Given the description of an element on the screen output the (x, y) to click on. 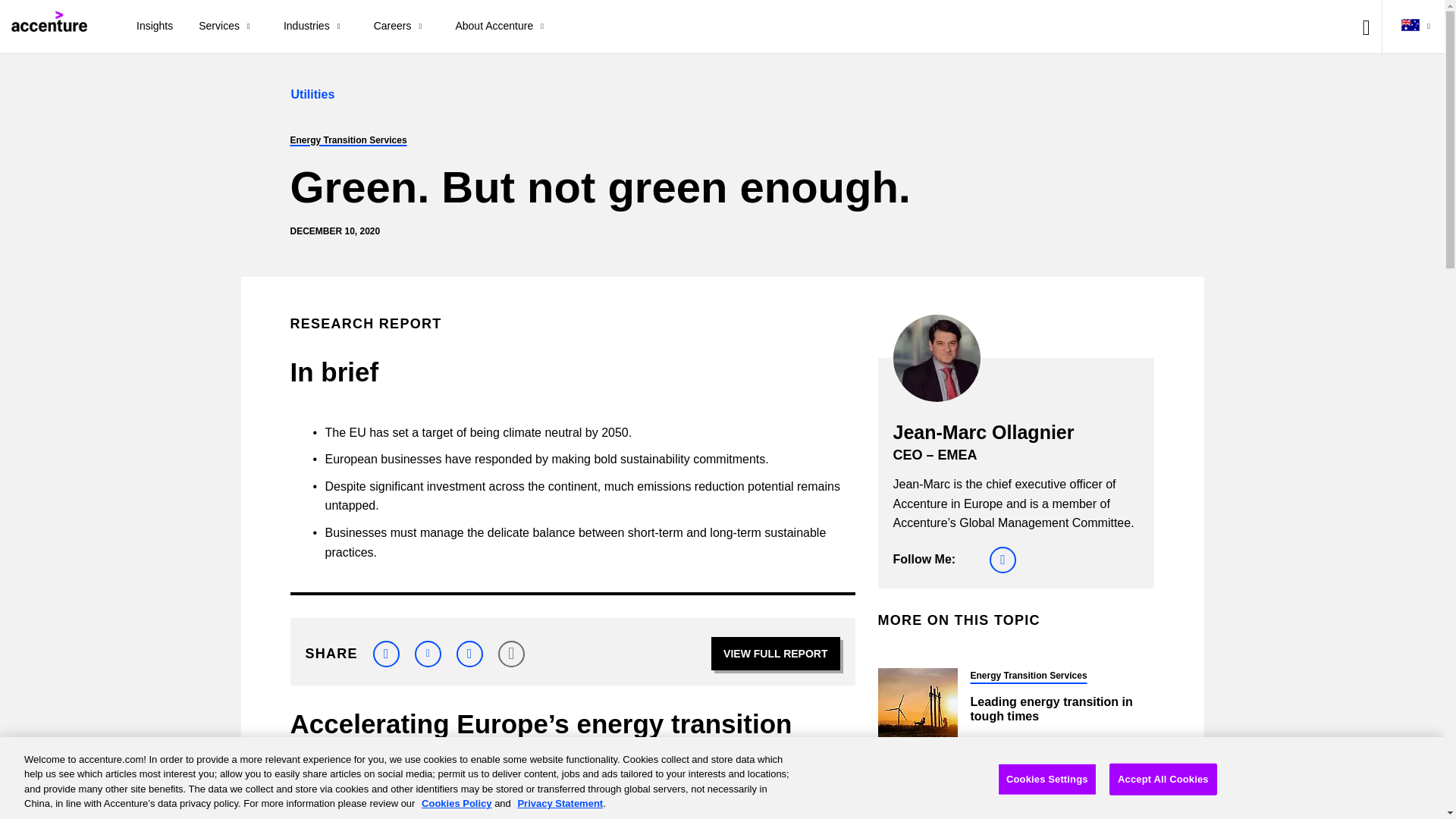
Insights (154, 26)
Industries (315, 26)
Services (228, 26)
